Given the description of an element on the screen output the (x, y) to click on. 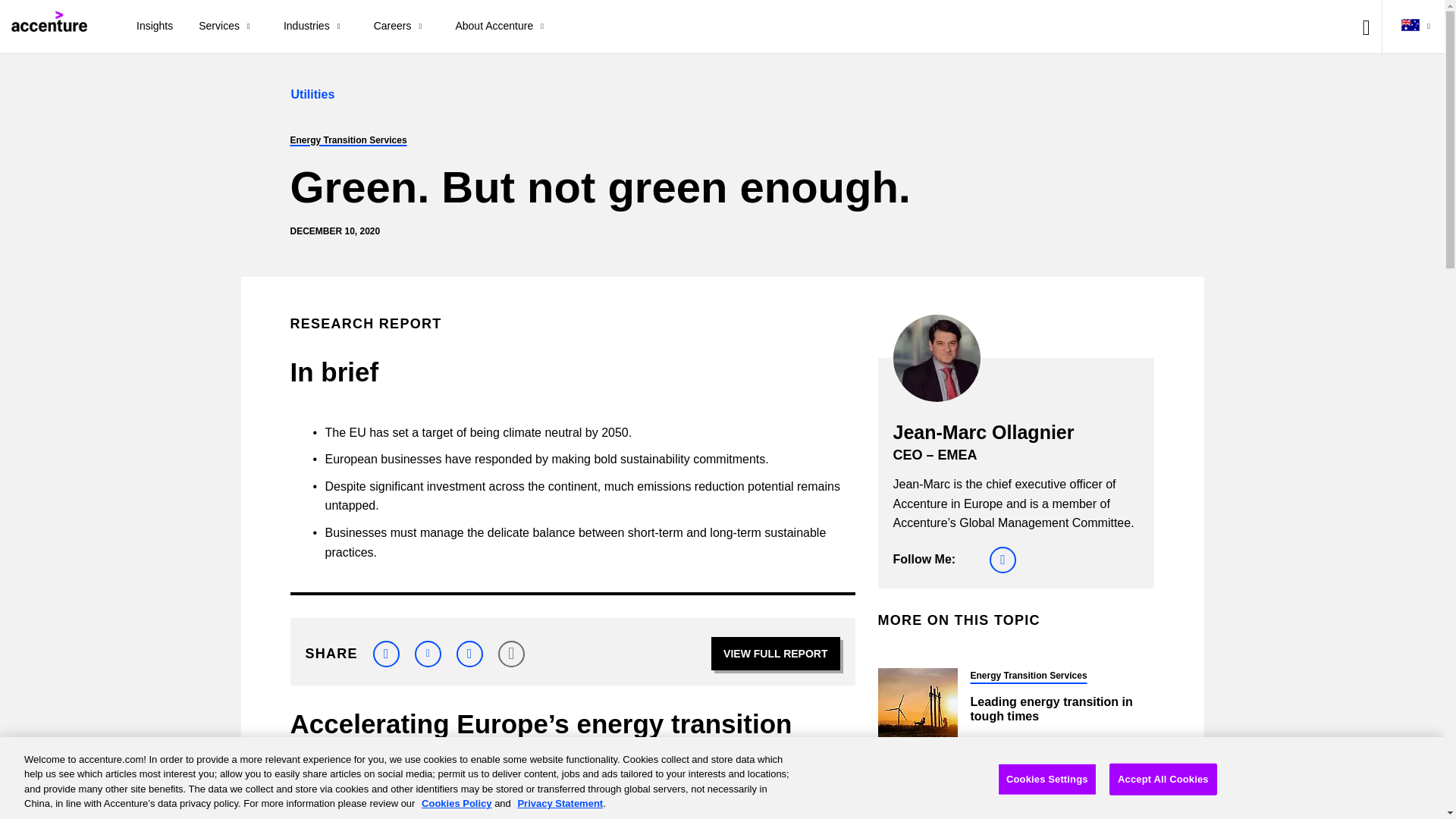
Insights (154, 26)
Industries (315, 26)
Services (228, 26)
